Given the description of an element on the screen output the (x, y) to click on. 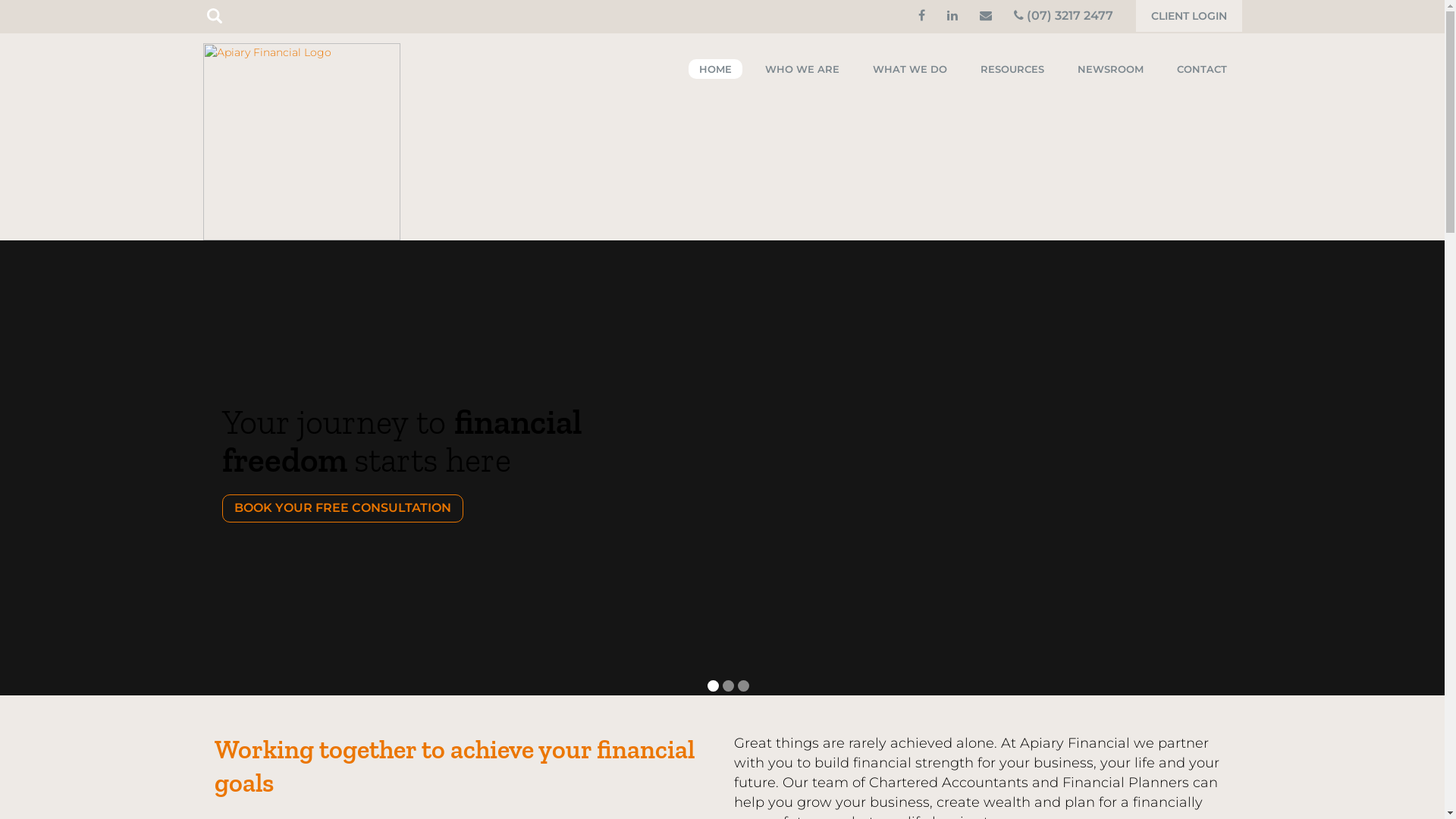
CLIENT LOGIN Element type: text (1188, 15)
NEWSROOM Element type: text (1109, 69)
WHO WE ARE Element type: text (801, 69)
BOOK YOUR FREE CONSULTATION Element type: text (341, 508)
HOME Element type: text (715, 69)
(07) 3217 2477 Element type: text (1062, 15)
CONTACT Element type: text (1201, 69)
WHAT WE DO Element type: text (909, 69)
Search Element type: text (40, 16)
RESOURCES Element type: text (1011, 69)
